Given the description of an element on the screen output the (x, y) to click on. 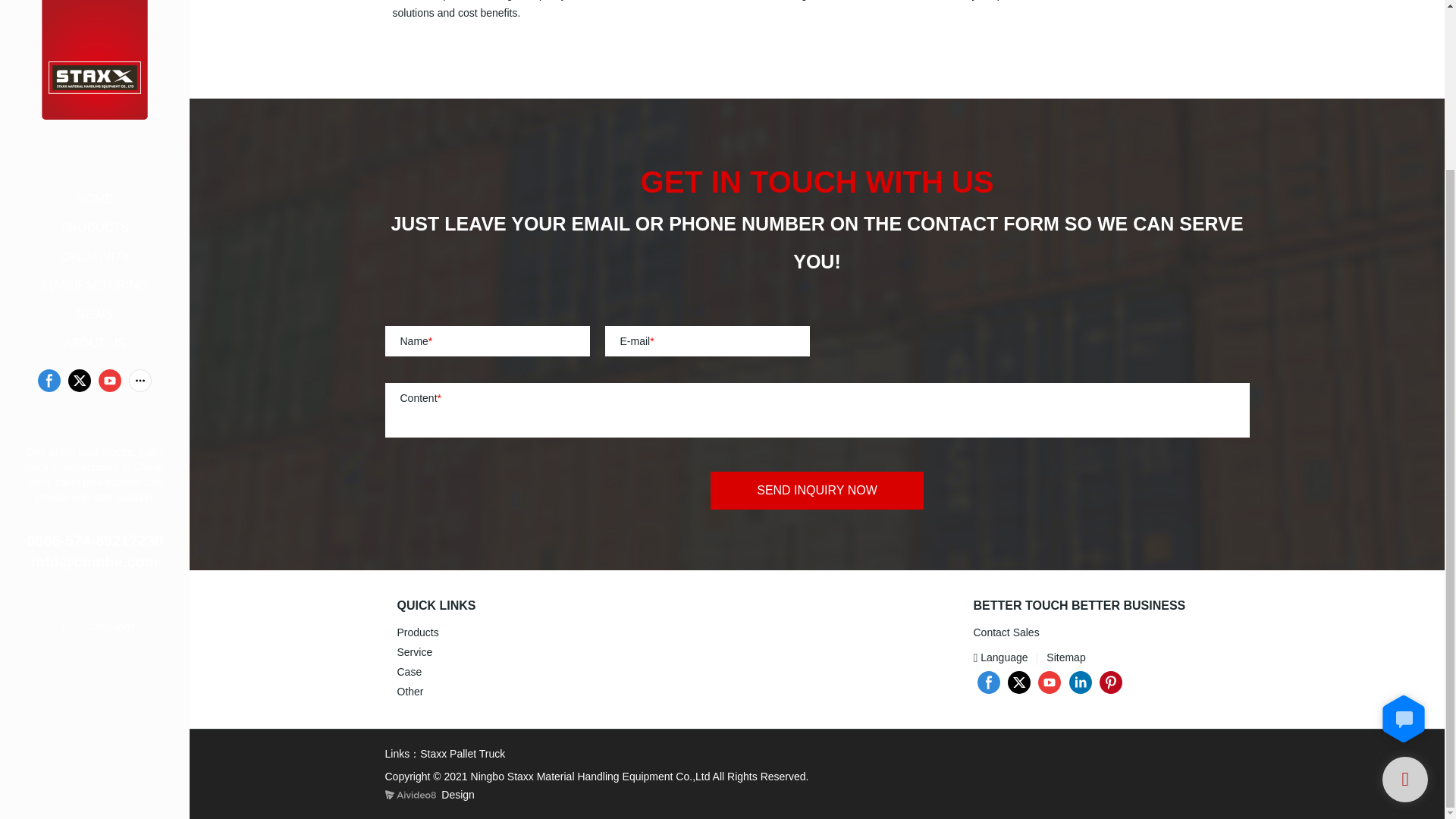
Products (418, 632)
HOME (94, 5)
linkedin (1079, 682)
MANUFACTURING (94, 82)
pinterest (1109, 682)
youtube (109, 177)
SEND INQUIRY NOW (816, 490)
twitter (79, 177)
facebook (989, 682)
Language (1002, 657)
